Given the description of an element on the screen output the (x, y) to click on. 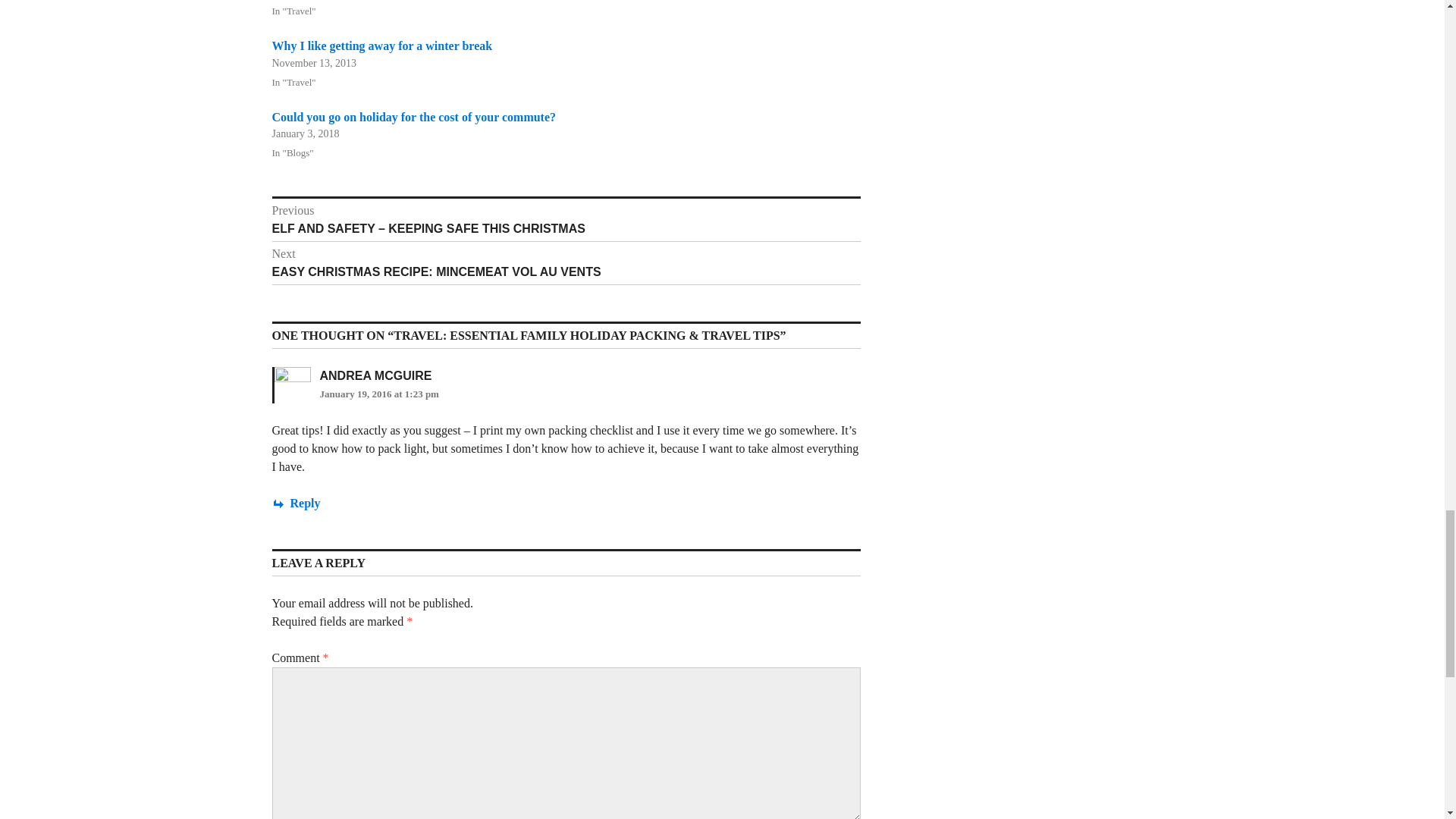
Reply (295, 502)
Could you go on holiday for the cost of your commute? (413, 116)
Why I like getting away for a winter break (381, 46)
Could you go on holiday for the cost of your commute? (413, 116)
January 19, 2016 at 1:23 pm (379, 393)
Why I like getting away for a winter break (381, 46)
